Given the description of an element on the screen output the (x, y) to click on. 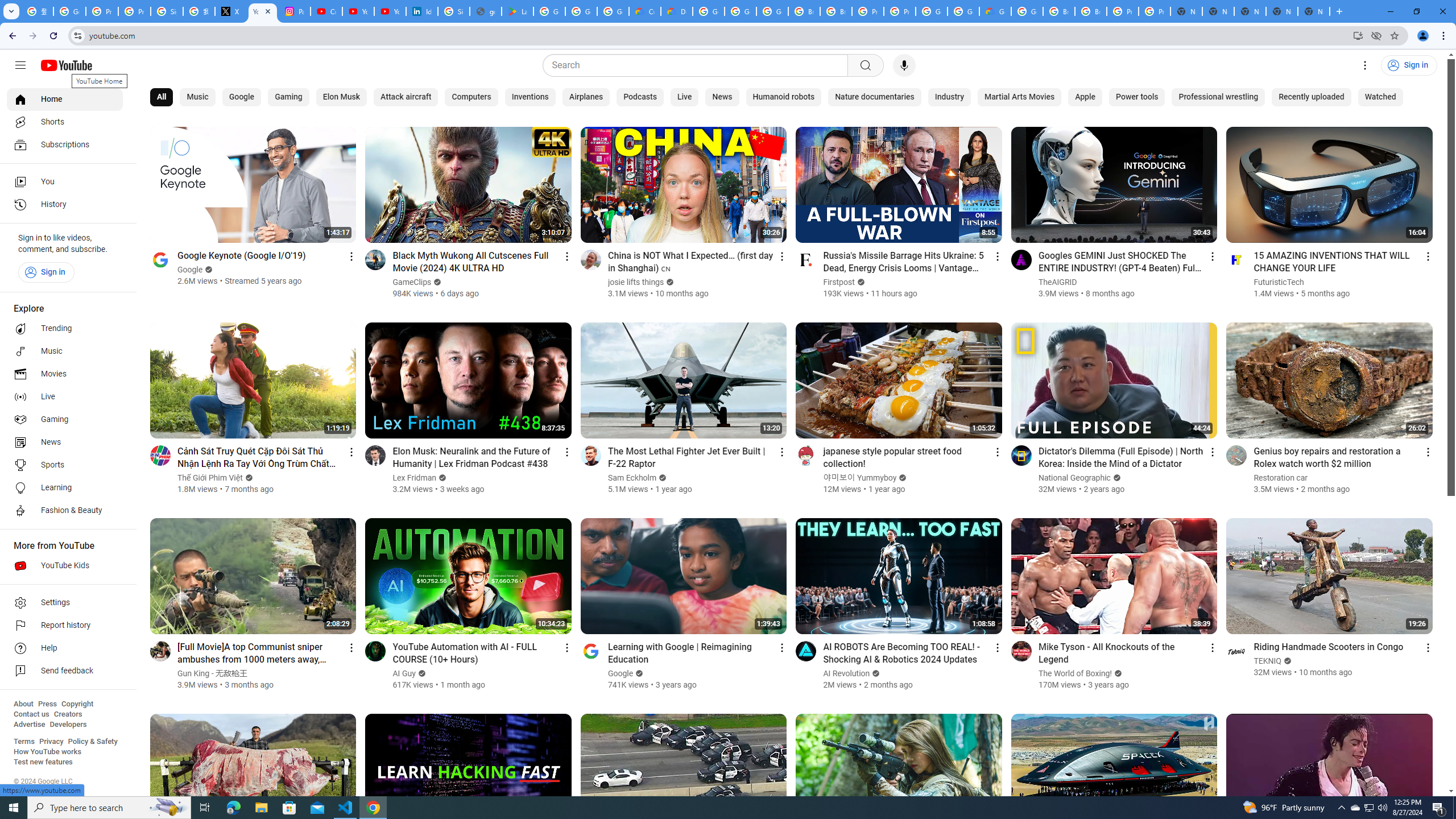
Learning (64, 487)
News (721, 97)
AI Revolution (846, 673)
YouTube Kids (64, 565)
Contact us (31, 714)
